Given the description of an element on the screen output the (x, y) to click on. 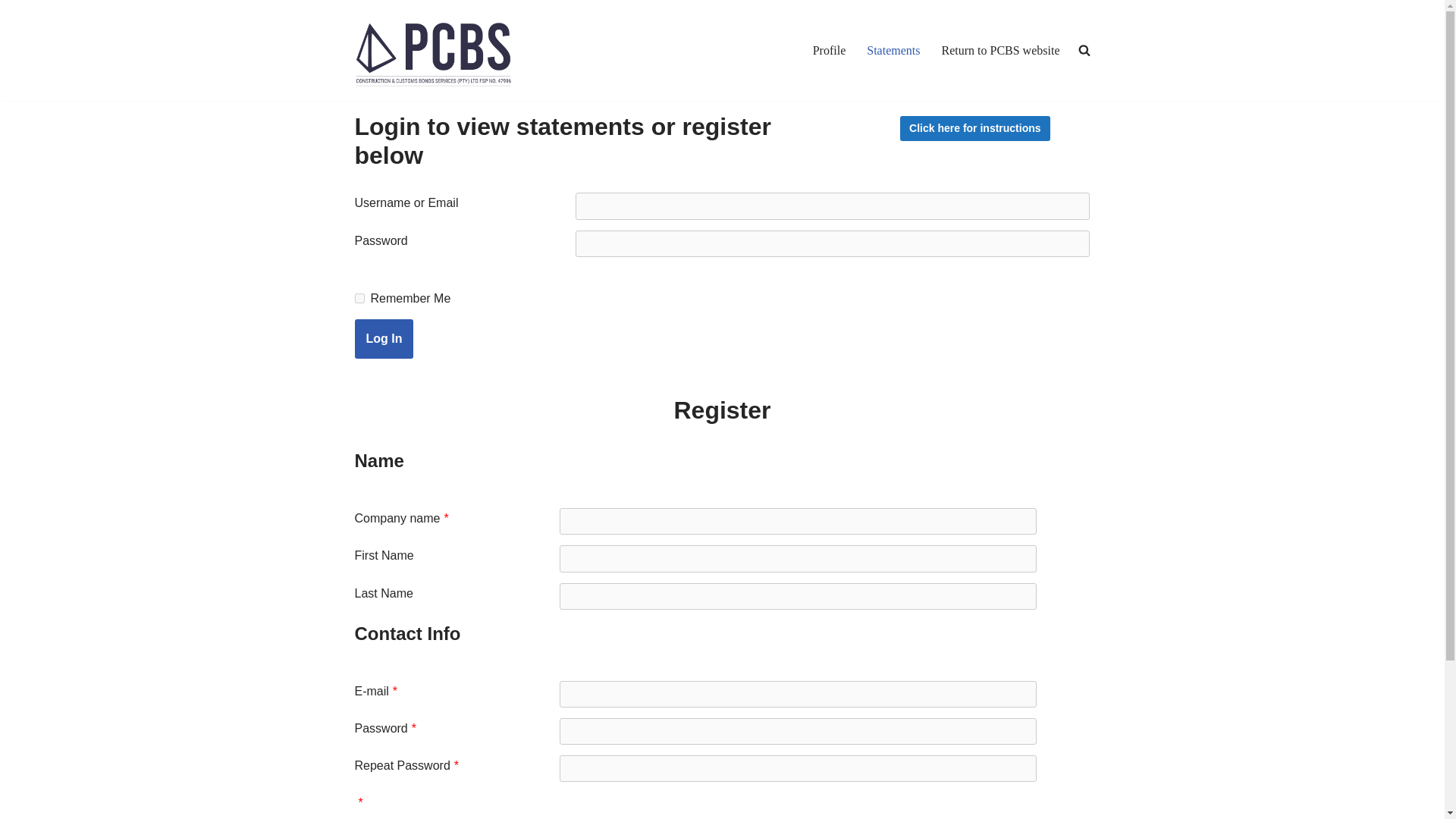
Skip to content (11, 31)
forever (360, 298)
Profile (828, 50)
Return to PCBS website (999, 50)
Log In (384, 338)
Statements (893, 50)
Log In (384, 338)
Click here for instructions (974, 128)
